Given the description of an element on the screen output the (x, y) to click on. 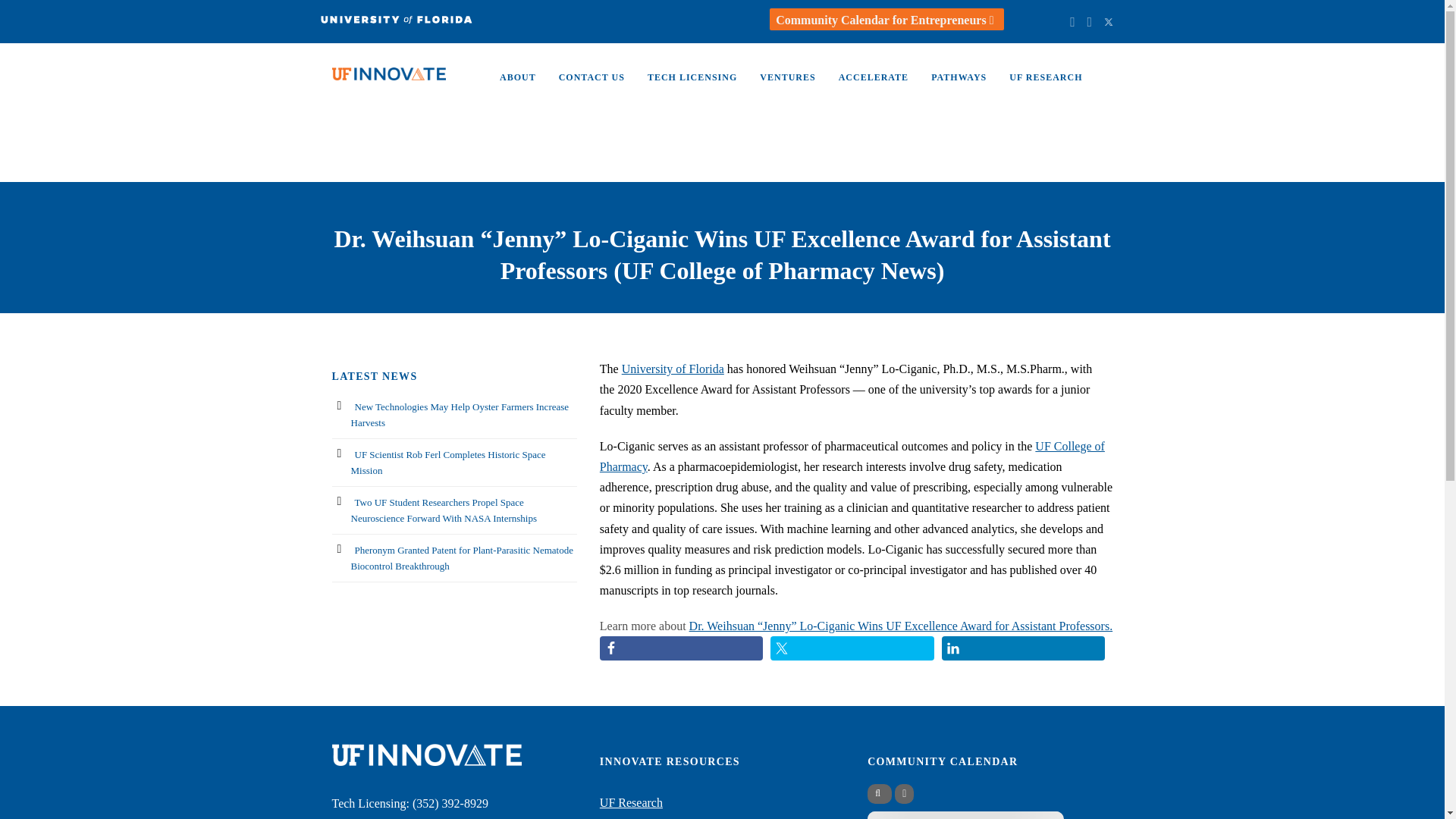
Accelerate (861, 84)
Community Calendar for Entrepreneurs (886, 19)
Share on LinkedIn (1023, 648)
Share on Facebook (680, 648)
Share on Twitter (852, 648)
